Given the description of an element on the screen output the (x, y) to click on. 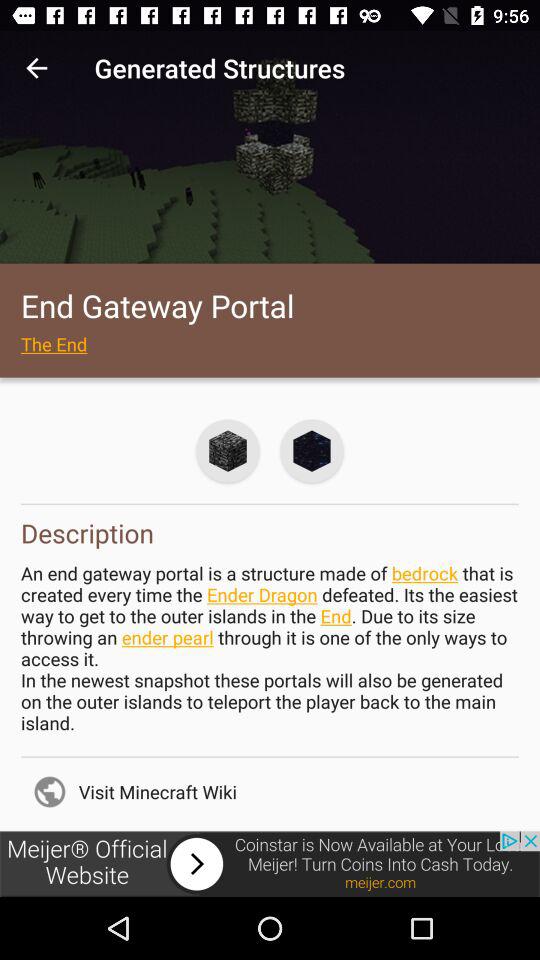
select the second symbol which is below the end (311, 451)
click on globe icon which is on the left side of visit minecraft wiki (49, 791)
